Given the description of an element on the screen output the (x, y) to click on. 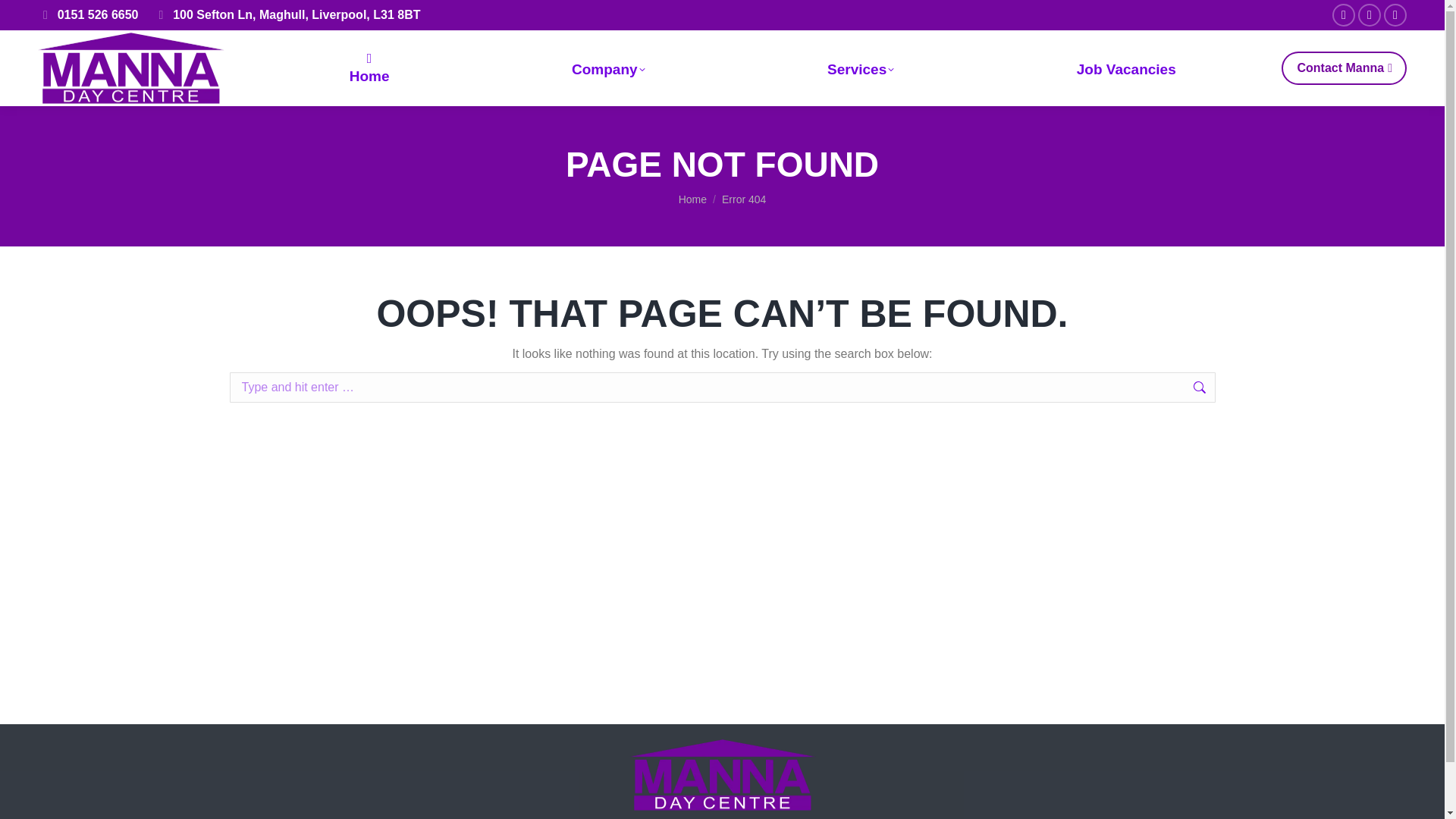
Services (860, 68)
Job Vacancies (1125, 68)
Mail page opens in new window (1395, 15)
Home (692, 199)
Go! (1246, 390)
Home (369, 68)
Contact Manna (1343, 68)
Facebook page opens in new window (1343, 15)
Go! (1246, 390)
Mail page opens in new window (1395, 15)
